Given the description of an element on the screen output the (x, y) to click on. 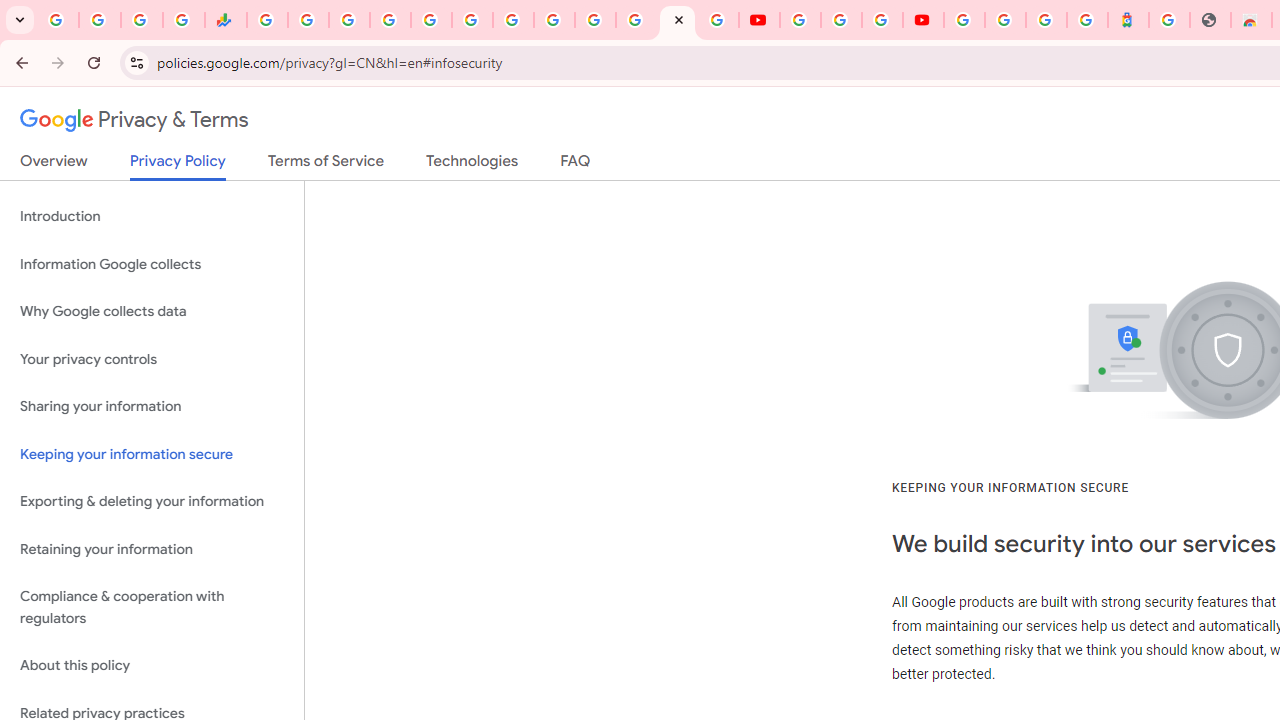
Sign in - Google Accounts (1005, 20)
Content Creator Programs & Opportunities - YouTube Creators (923, 20)
YouTube (758, 20)
